Given the description of an element on the screen output the (x, y) to click on. 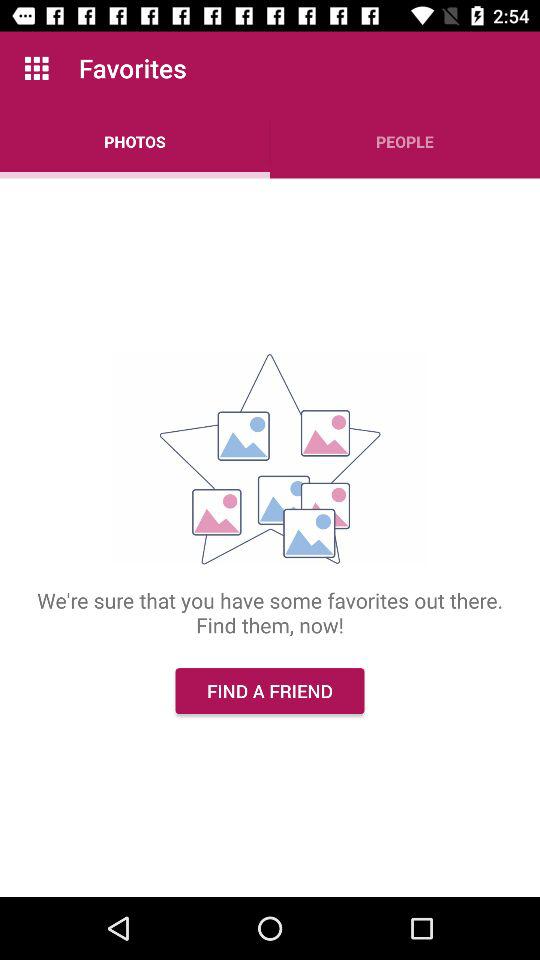
choose the app next to favorites icon (36, 68)
